Given the description of an element on the screen output the (x, y) to click on. 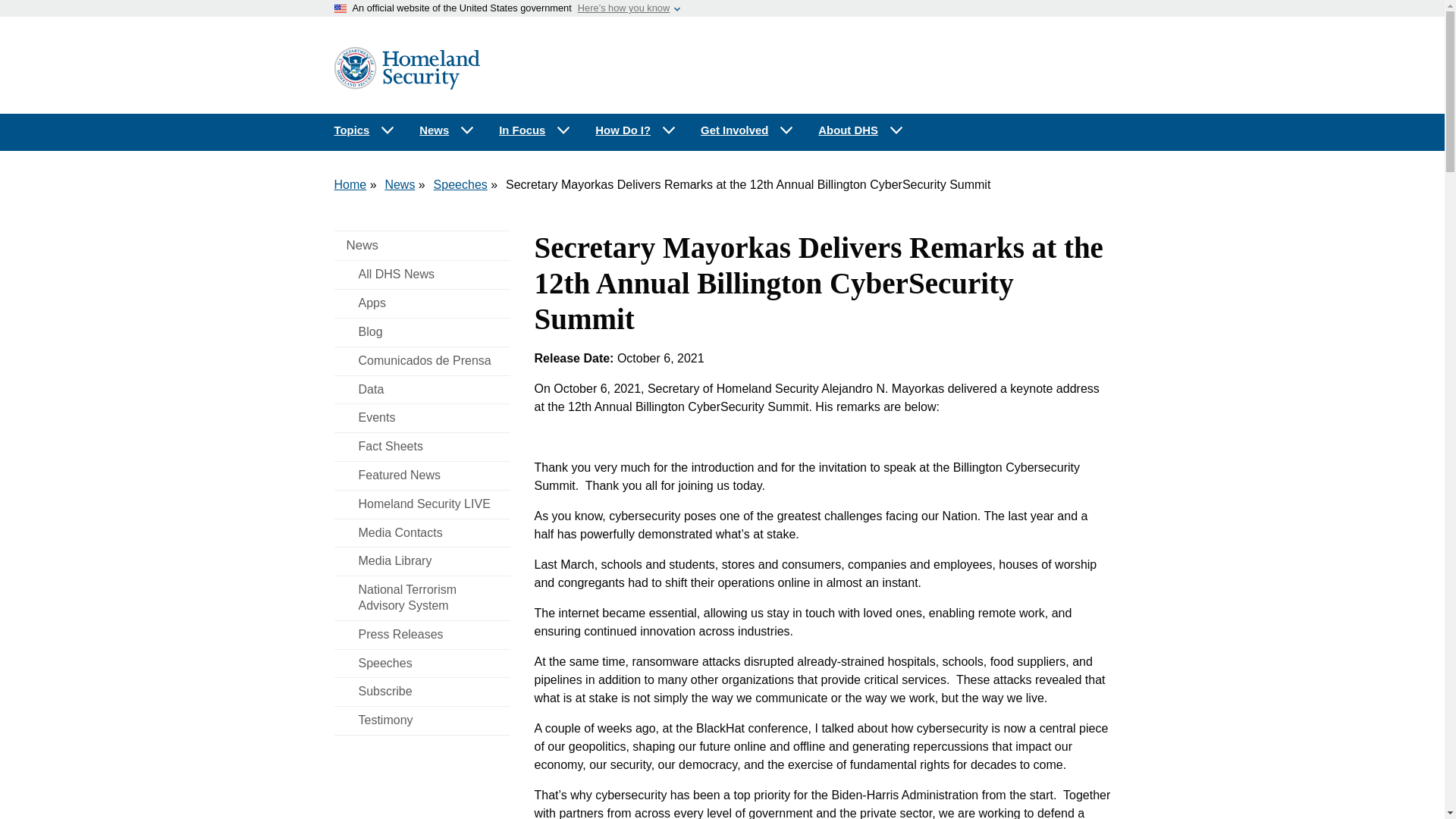
Homeland Security LIVE (421, 504)
In Focus (534, 130)
News (446, 130)
News (421, 245)
Data (421, 389)
Events (421, 418)
Media Contacts (421, 533)
All DHS News (421, 275)
How Do I? (635, 130)
All DHS News (421, 275)
Comunicados de Prensa (421, 361)
Get Involved (747, 130)
National Terrorism Advisory System (421, 597)
Featured News (421, 475)
